Given the description of an element on the screen output the (x, y) to click on. 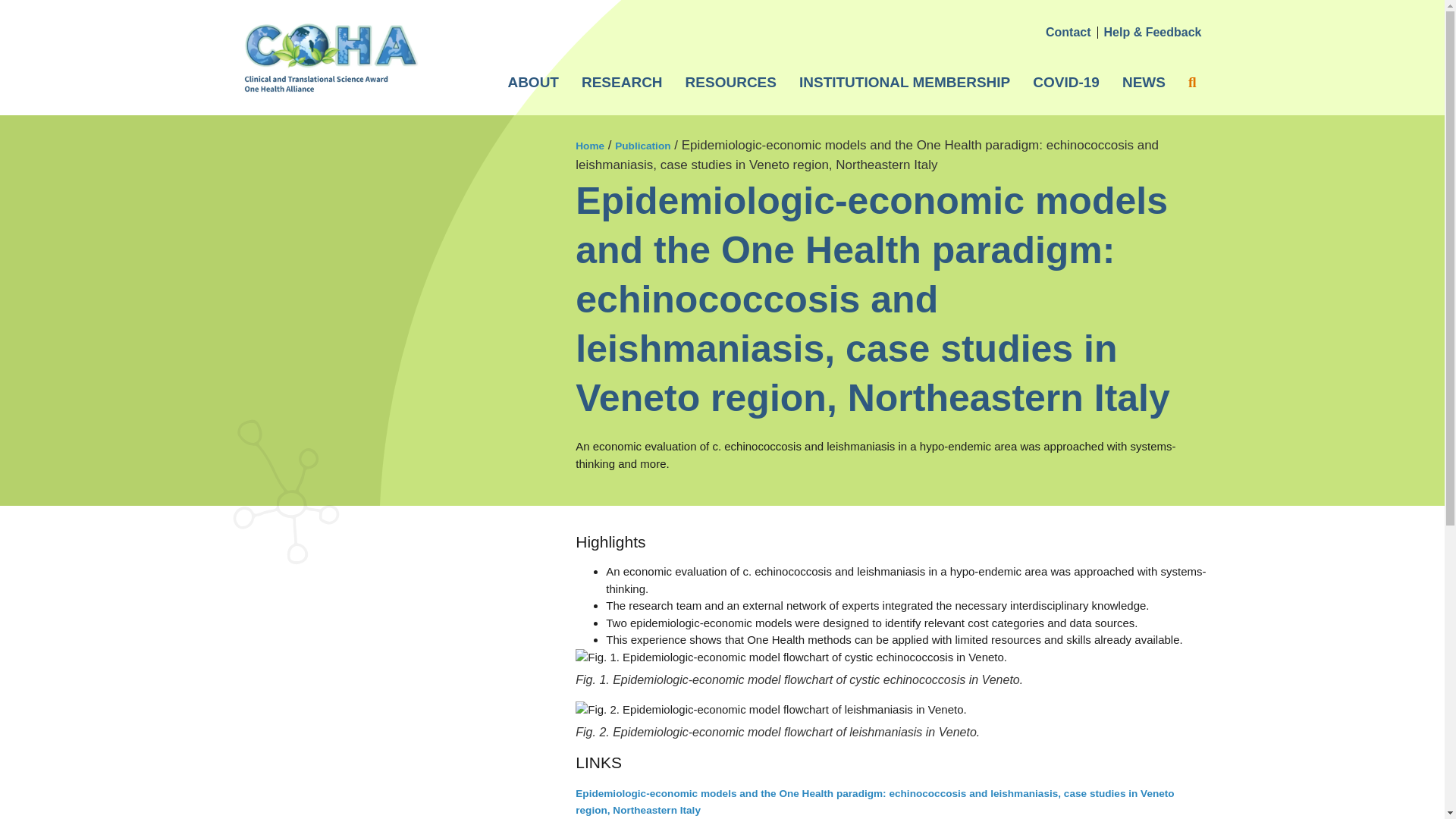
RESOURCES (730, 82)
INSTITUTIONAL MEMBERSHIP (904, 82)
RESEARCH (622, 82)
Home (589, 145)
Publication (641, 145)
Home (589, 145)
Contact (1068, 32)
COVID-19 (1066, 82)
ABOUT (533, 82)
NEWS (1143, 82)
